Given the description of an element on the screen output the (x, y) to click on. 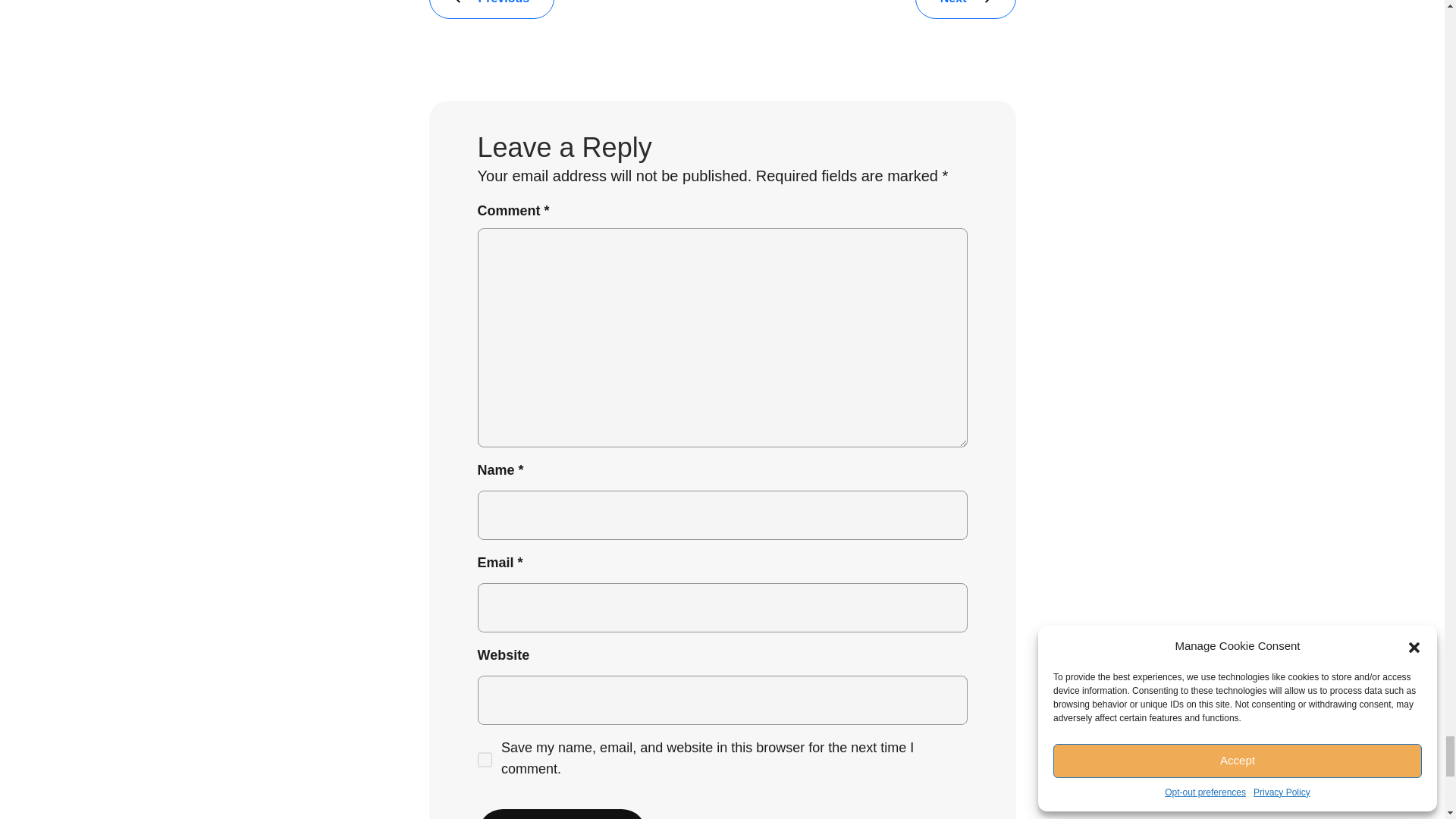
Post Comment (561, 814)
Post Comment (561, 814)
Next (965, 9)
Previous (491, 9)
